Given the description of an element on the screen output the (x, y) to click on. 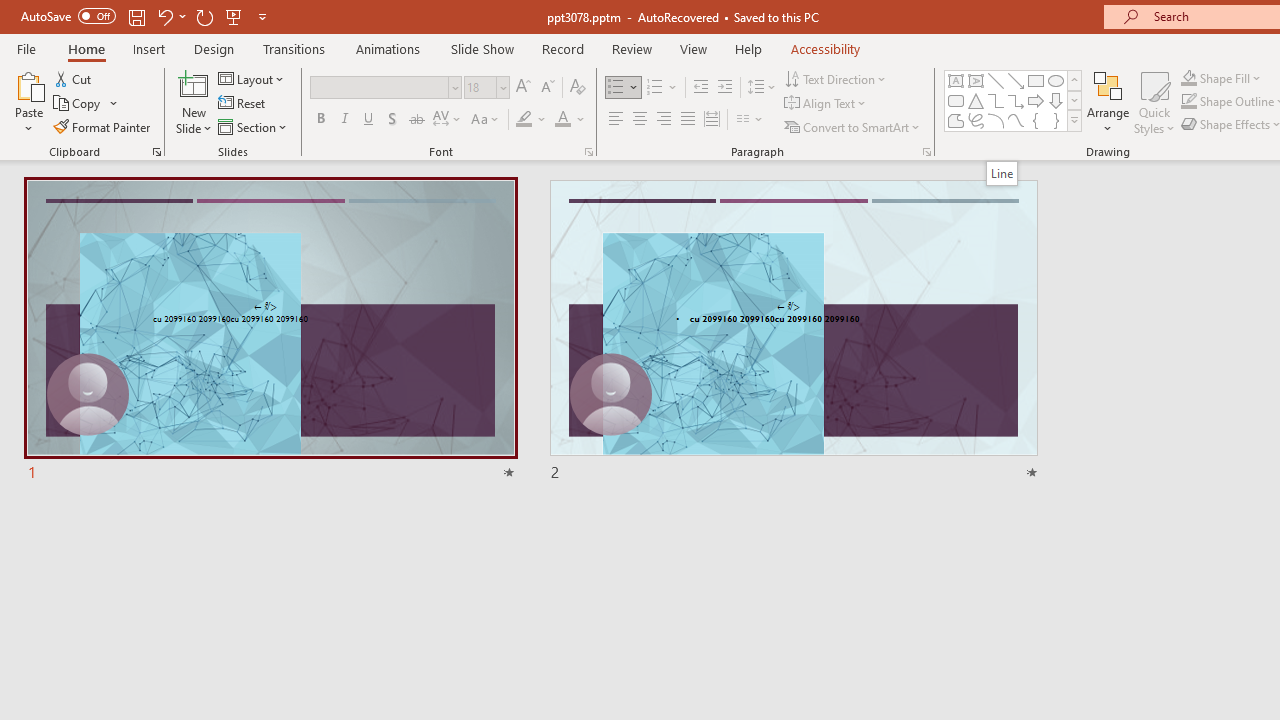
Line Arrow (1016, 80)
AutomationID: ShapesInsertGallery (1014, 100)
Strikethrough (416, 119)
Center (639, 119)
Vertical Text Box (975, 80)
Freeform: Shape (955, 120)
Align Text (826, 103)
Shapes (1074, 120)
